Given the description of an element on the screen output the (x, y) to click on. 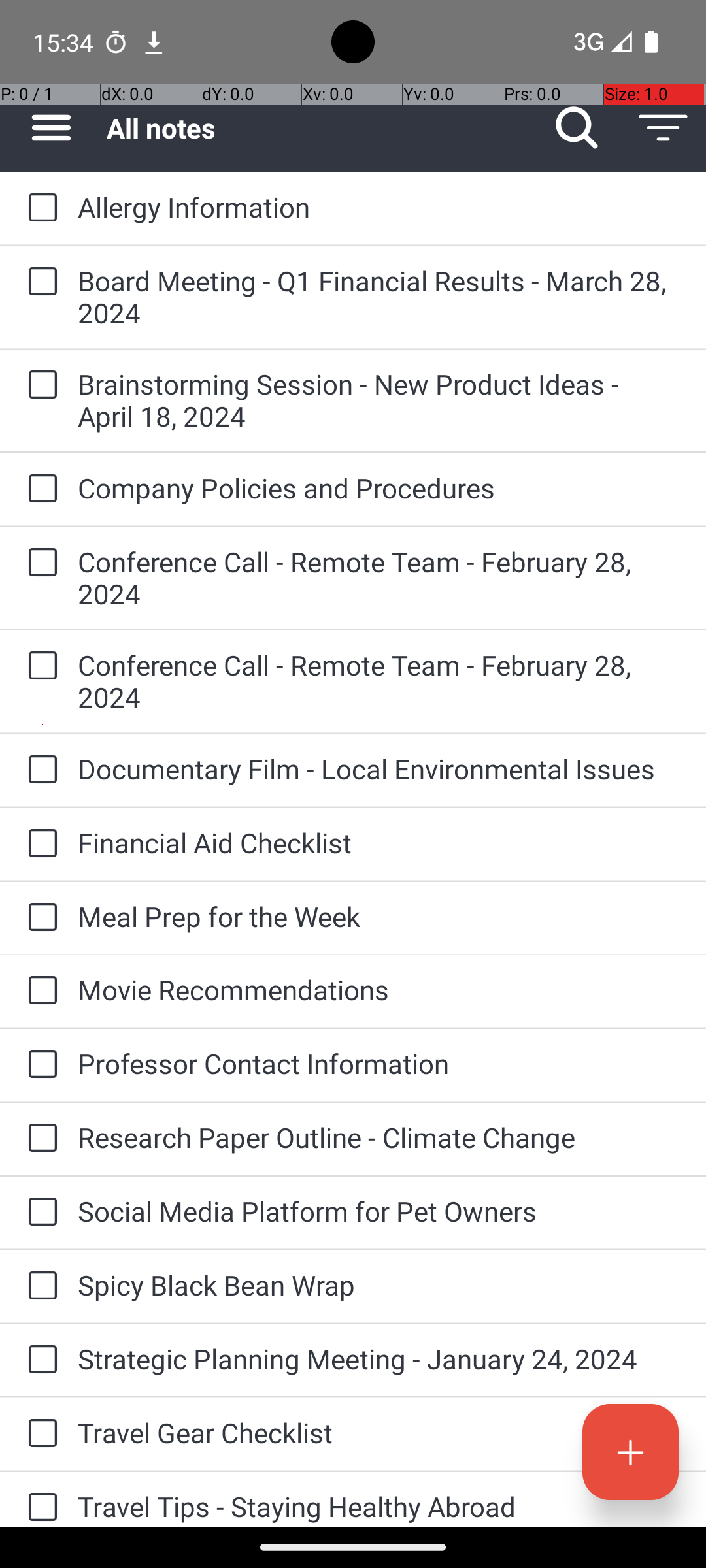
to-do: Allergy Information Element type: android.widget.CheckBox (38, 208)
Allergy Information Element type: android.widget.TextView (378, 206)
to-do: Board Meeting - Q1 Financial Results - March 28, 2024 Element type: android.widget.CheckBox (38, 282)
Board Meeting - Q1 Financial Results - March 28, 2024 Element type: android.widget.TextView (378, 296)
to-do: Brainstorming Session - New Product Ideas - April 18, 2024 Element type: android.widget.CheckBox (38, 385)
Brainstorming Session - New Product Ideas - April 18, 2024 Element type: android.widget.TextView (378, 399)
to-do: Company Policies and Procedures Element type: android.widget.CheckBox (38, 489)
Company Policies and Procedures Element type: android.widget.TextView (378, 487)
to-do: Conference Call - Remote Team - February 28, 2024 Element type: android.widget.CheckBox (38, 563)
Conference Call - Remote Team - February 28, 2024 Element type: android.widget.TextView (378, 577)
to-do: Documentary Film - Local Environmental Issues Element type: android.widget.CheckBox (38, 770)
Documentary Film - Local Environmental Issues Element type: android.widget.TextView (378, 768)
to-do: Meal Prep for the Week Element type: android.widget.CheckBox (38, 918)
to-do: Professor Contact Information Element type: android.widget.CheckBox (38, 1064)
Professor Contact Information Element type: android.widget.TextView (378, 1062)
to-do: Research Paper Outline - Climate Change Element type: android.widget.CheckBox (38, 1138)
Research Paper Outline - Climate Change Element type: android.widget.TextView (378, 1136)
to-do: Social Media Platform for Pet Owners Element type: android.widget.CheckBox (38, 1212)
to-do: Spicy Black Bean Wrap Element type: android.widget.CheckBox (38, 1286)
Spicy Black Bean Wrap Element type: android.widget.TextView (378, 1284)
to-do: Strategic Planning Meeting - January 24, 2024 Element type: android.widget.CheckBox (38, 1360)
Strategic Planning Meeting - January 24, 2024 Element type: android.widget.TextView (378, 1358)
to-do: Travel Gear Checklist Element type: android.widget.CheckBox (38, 1434)
Travel Gear Checklist Element type: android.widget.TextView (378, 1432)
to-do: Travel Tips - Staying Healthy Abroad Element type: android.widget.CheckBox (38, 1498)
Travel Tips - Staying Healthy Abroad Element type: android.widget.TextView (378, 1505)
